Given the description of an element on the screen output the (x, y) to click on. 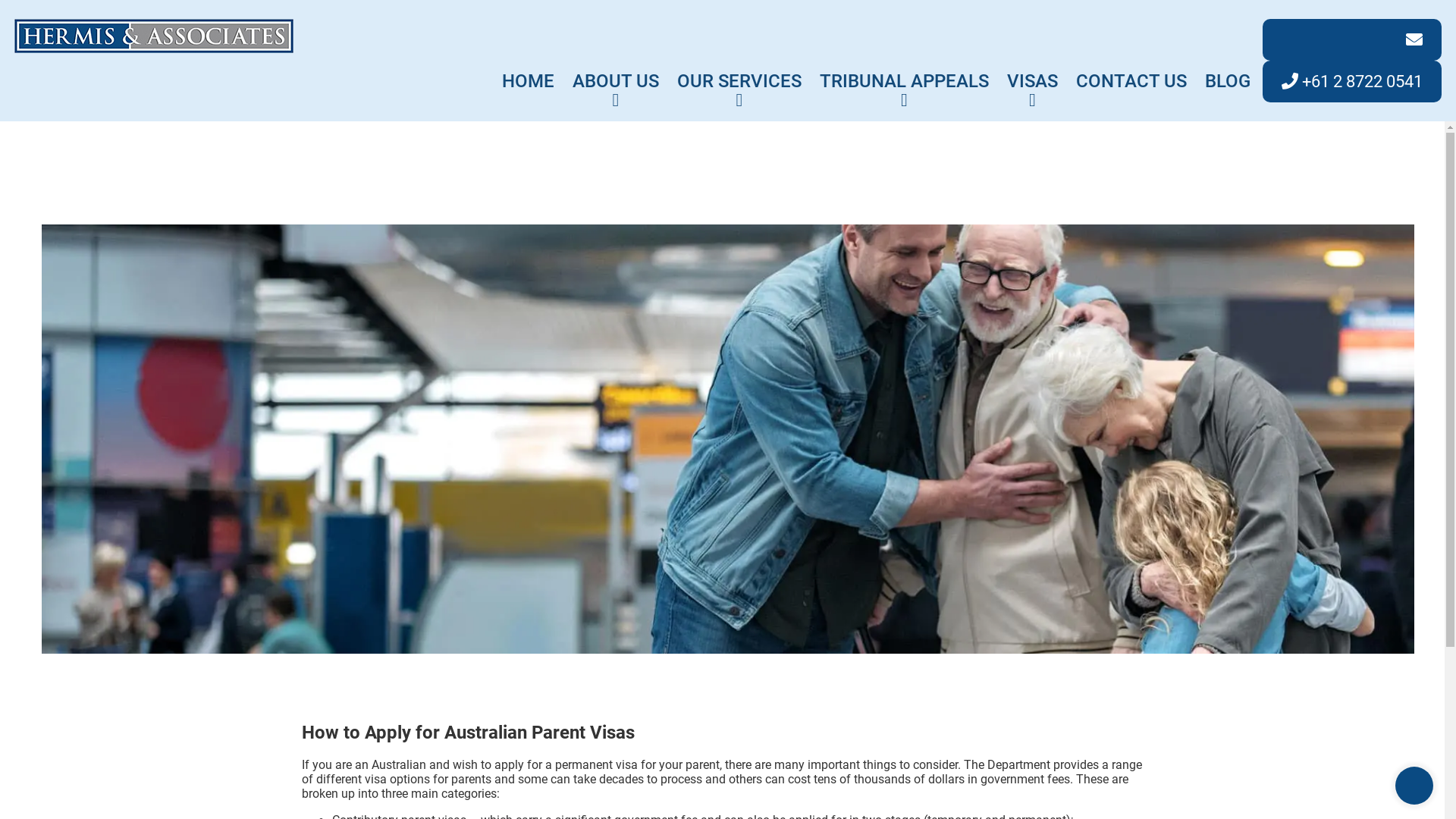
OUR SERVICES Element type: text (739, 73)
BLOG Element type: text (1227, 73)
+61 2 8722 0541 Element type: text (1351, 81)
HOME Element type: text (527, 73)
Hermis & Associates Element type: hover (153, 35)
CONTACT US Element type: text (1130, 73)
ABOUT US Element type: text (615, 73)
VISAS Element type: text (1031, 73)
TRIBUNAL APPEALS Element type: text (903, 73)
